Given the description of an element on the screen output the (x, y) to click on. 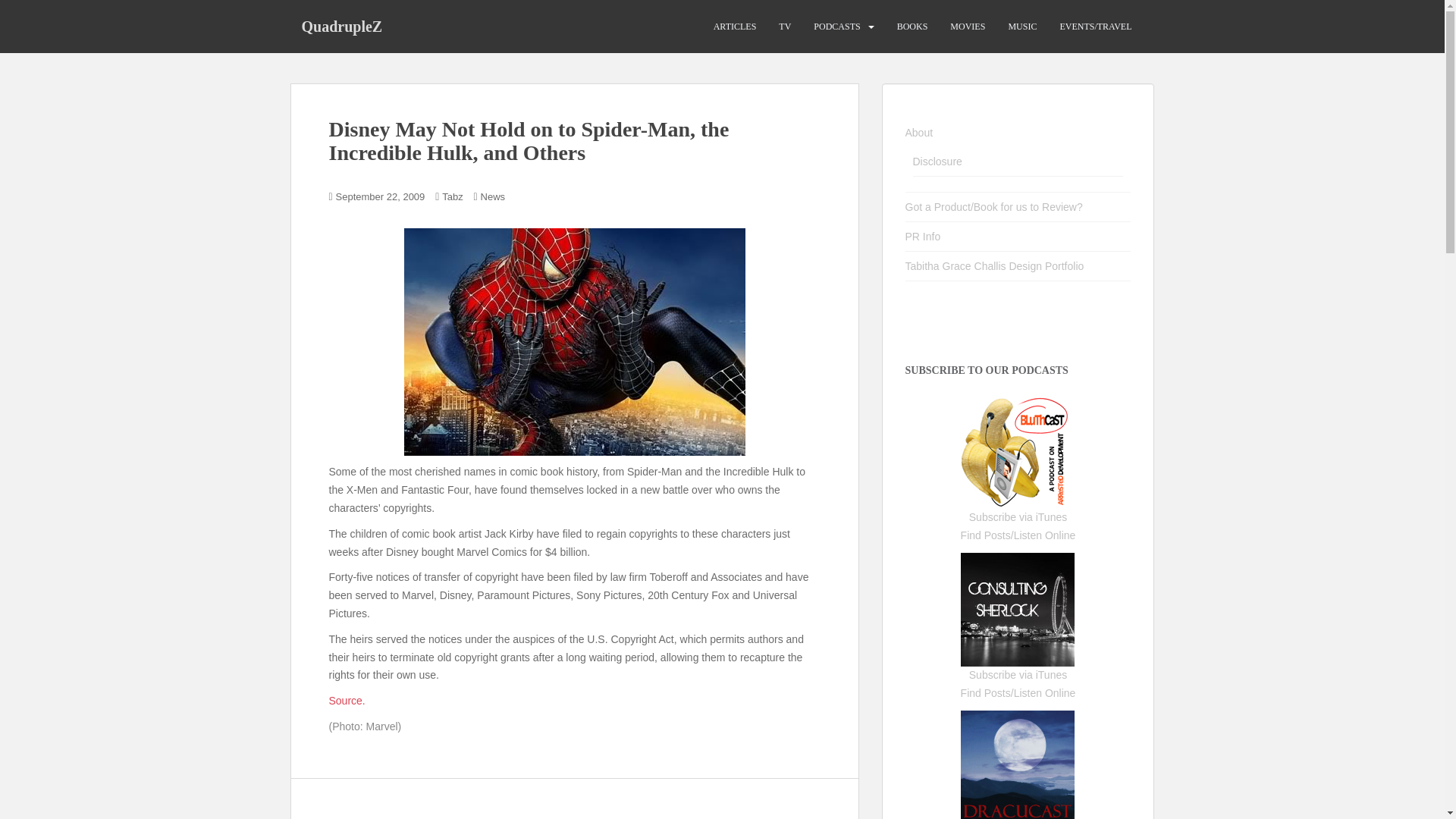
About (919, 132)
QuadrupleZ (341, 26)
Tabz (452, 196)
PODCASTS (836, 26)
ARTICLES (735, 26)
Source. (347, 700)
spiderman3 (573, 341)
MUSIC (1021, 26)
QuadrupleZ (341, 26)
Tabitha Grace Challis Design Portfolio (994, 265)
Disclosure (937, 161)
News (492, 196)
MOVIES (967, 26)
September 22, 2009 (380, 196)
PR Info (922, 236)
